Given the description of an element on the screen output the (x, y) to click on. 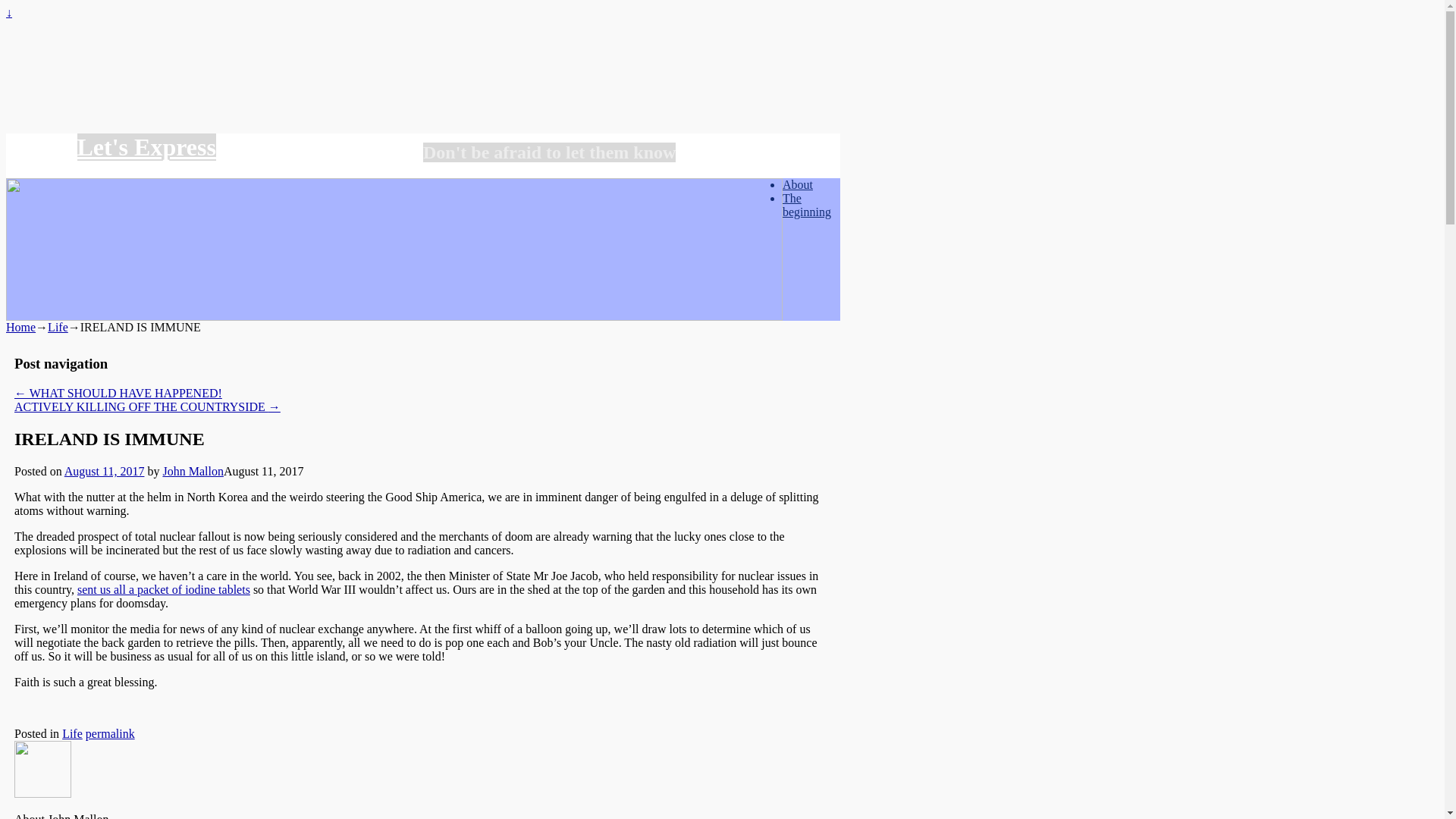
Let's Express (146, 146)
Home (19, 327)
Life (72, 733)
sent us all a packet of iodine tablets (163, 589)
Permalink to IRELAND IS IMMUNE (110, 733)
August 11, 2017 (104, 471)
Let's Express (146, 146)
permalink (110, 733)
View all posts by John Mallon (191, 471)
About (797, 184)
